Given the description of an element on the screen output the (x, y) to click on. 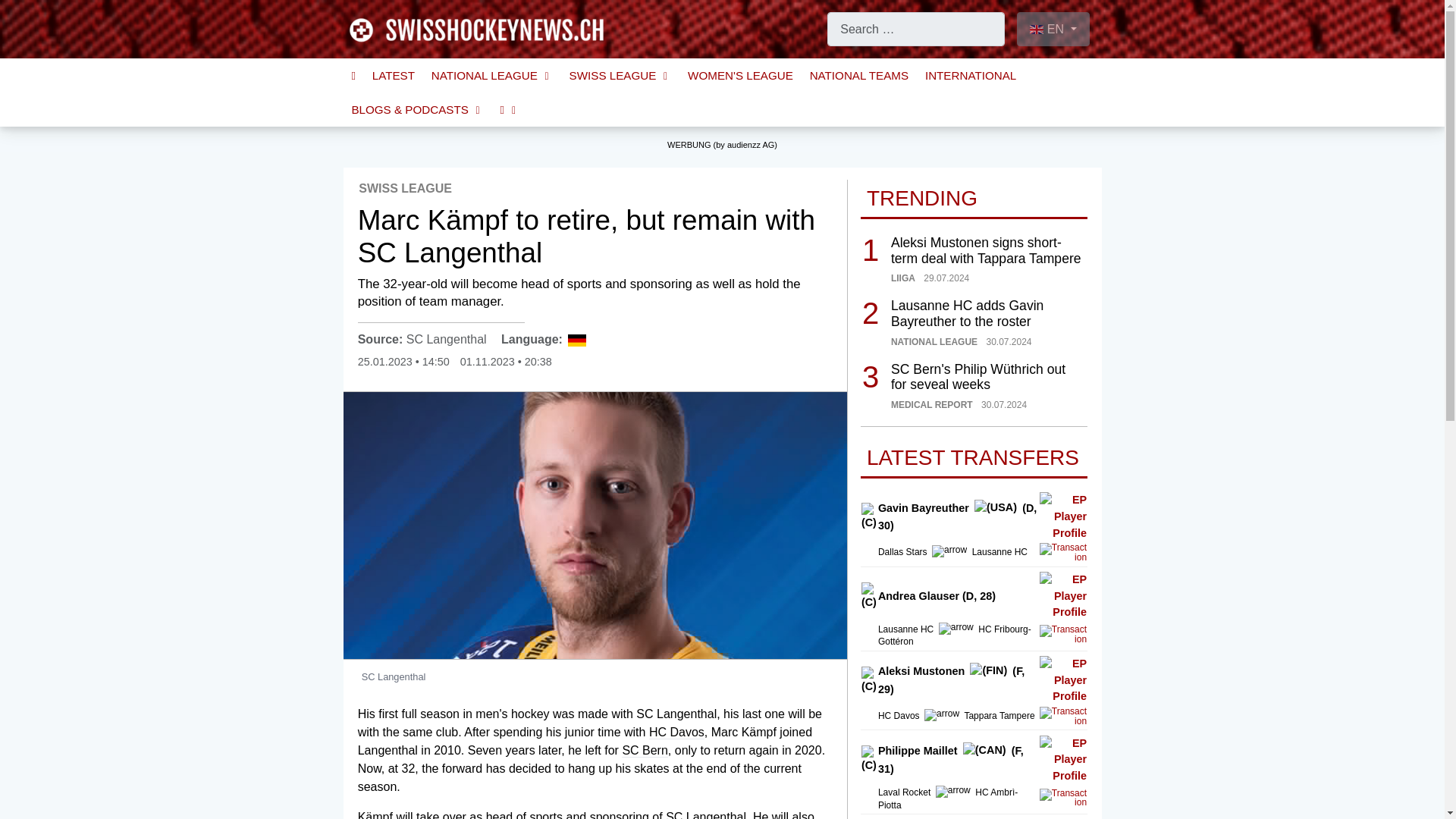
NATIONAL LEAGUE (491, 75)
HCD: News, Kader, und Transfers (676, 732)
SCB: News, Kader, und Transfers (643, 750)
LATEST (393, 75)
EN (1052, 28)
